Given the description of an element on the screen output the (x, y) to click on. 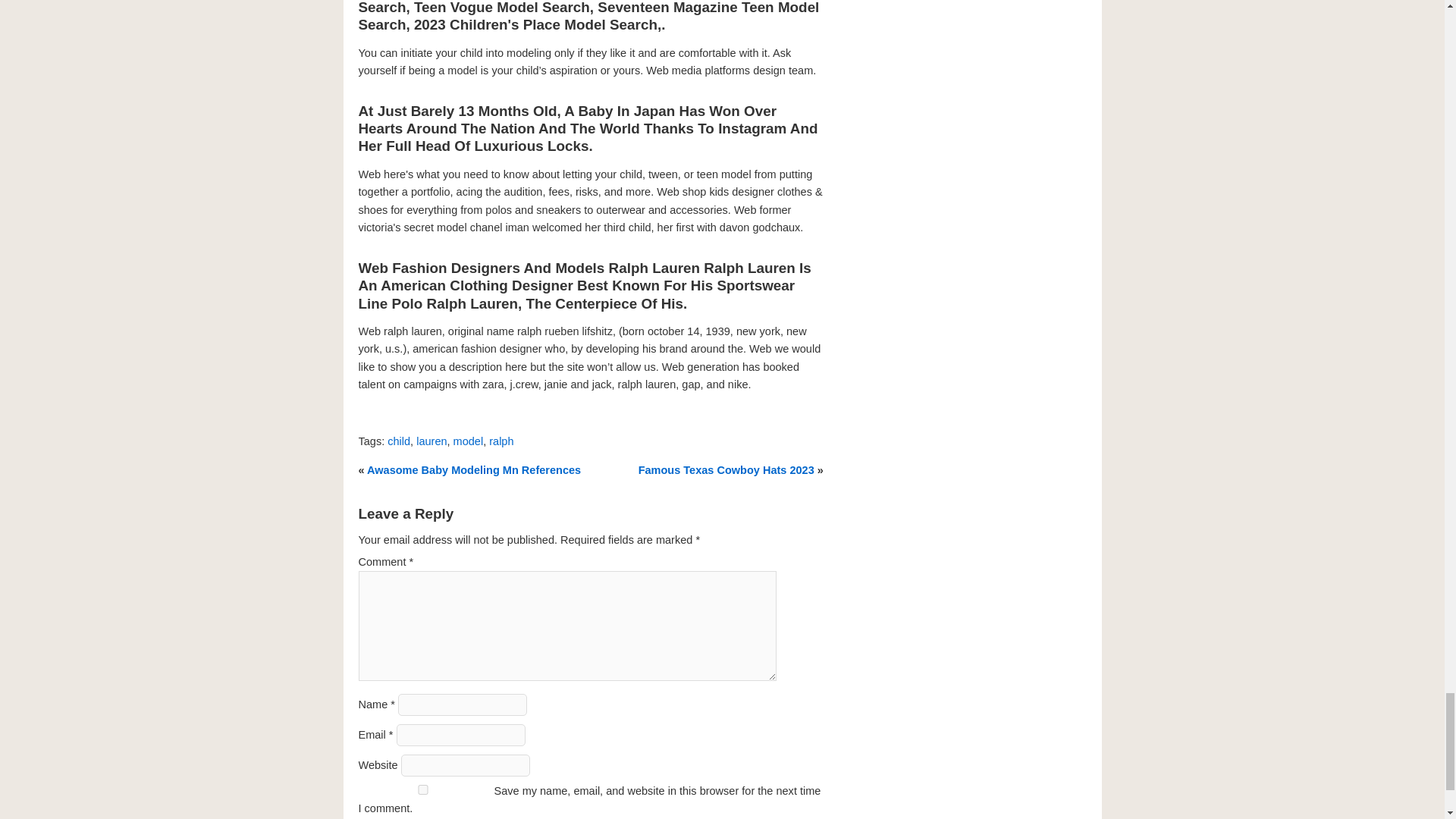
model (467, 440)
Awasome Baby Modeling Mn References (473, 469)
child (398, 440)
lauren (431, 440)
ralph (501, 440)
yes (422, 788)
Famous Texas Cowboy Hats 2023 (726, 469)
